Given the description of an element on the screen output the (x, y) to click on. 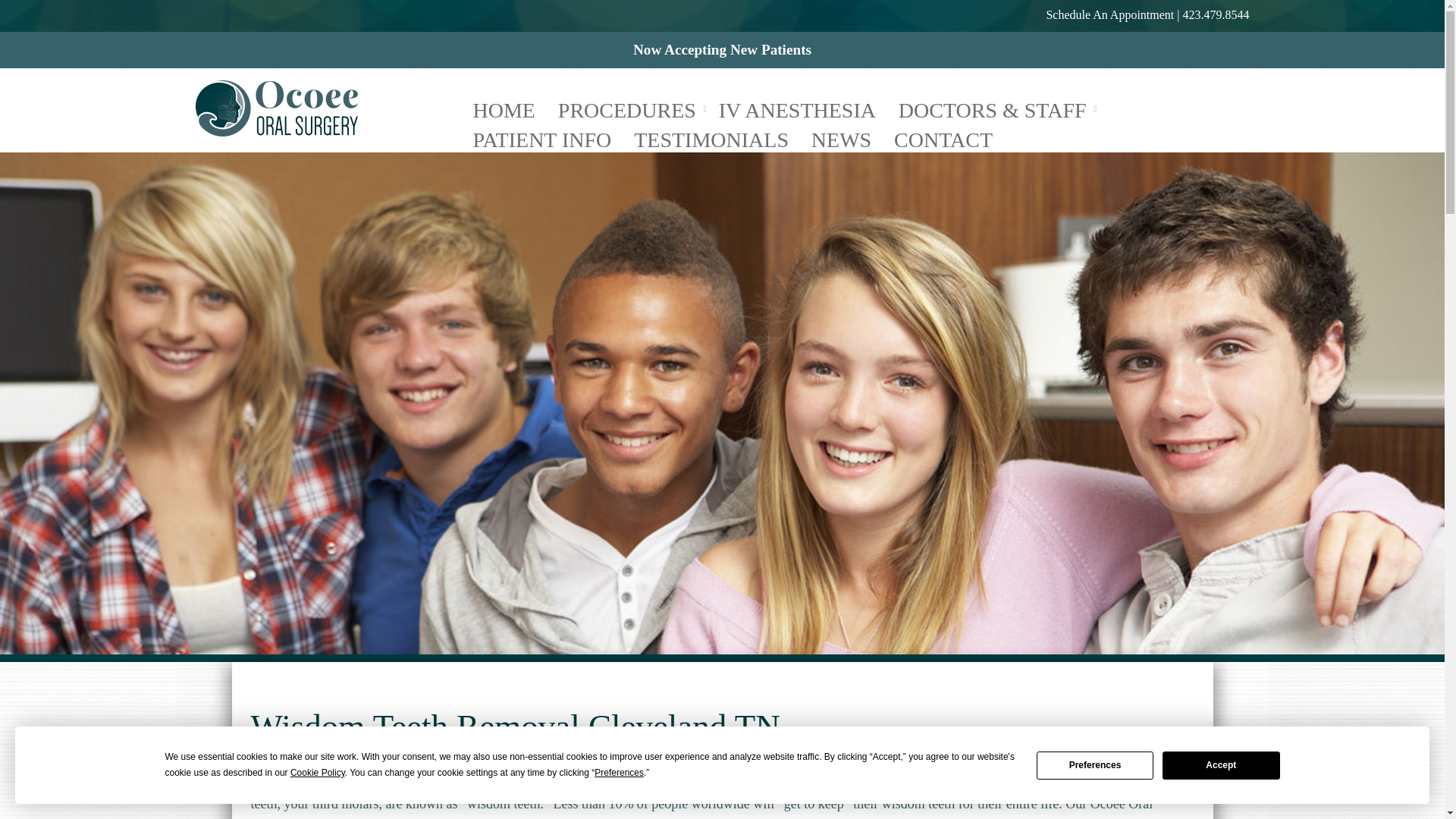
Preferences (1094, 764)
PROCEDURES (632, 108)
423.479.8544 (1215, 14)
HOME (509, 108)
Accept (1220, 764)
Schedule An Appointment (1109, 14)
Ocoee Oral Surgery (276, 107)
